Given the description of an element on the screen output the (x, y) to click on. 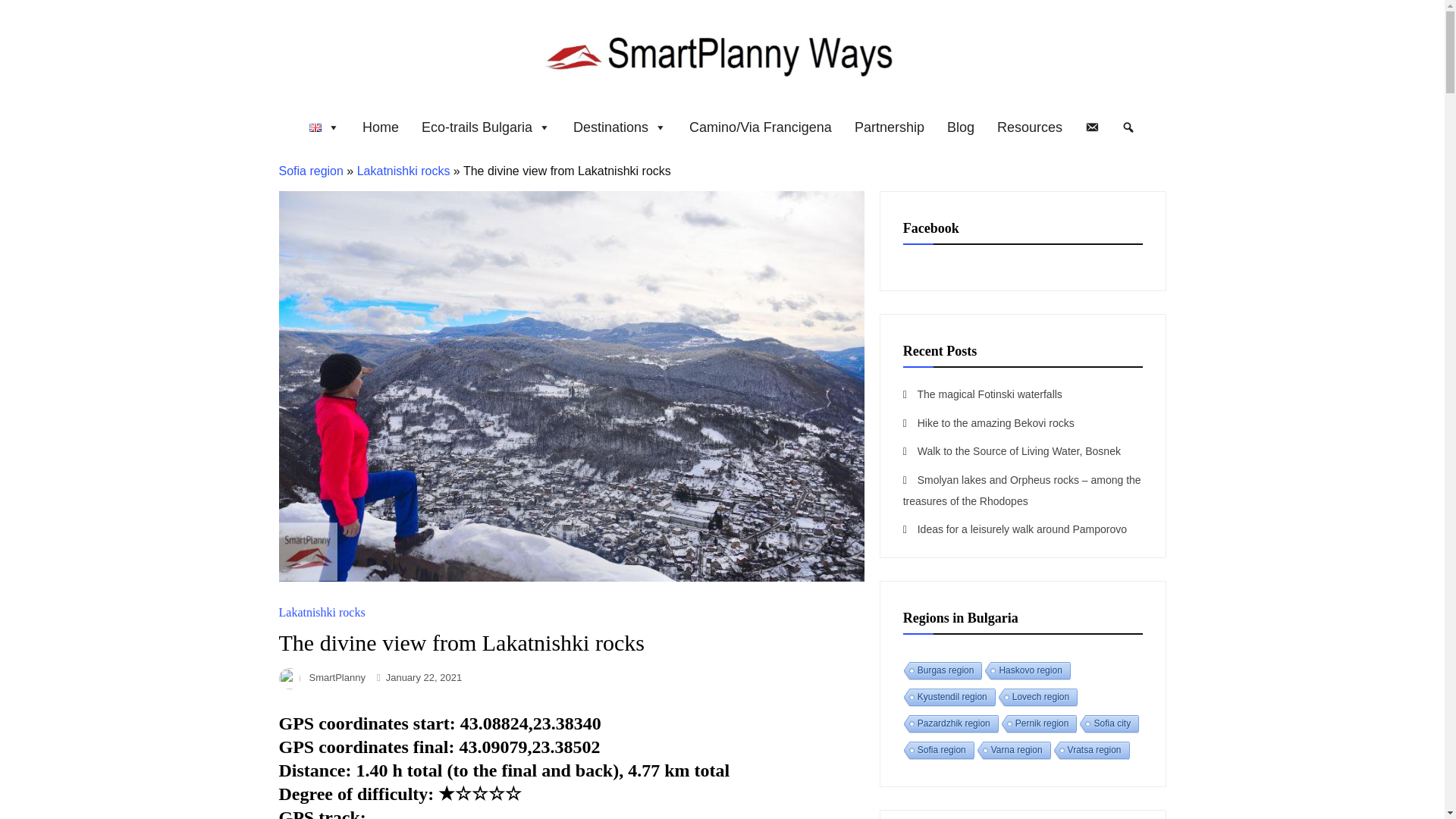
Home (380, 121)
The divine view from Lakatnishki rocks (571, 576)
Blog (960, 121)
Smartplanny Ways (722, 86)
Resources (1029, 121)
Destinations (620, 121)
Partnership (889, 121)
Eco-trails Bulgaria (486, 121)
Sofia region (311, 170)
